Given the description of an element on the screen output the (x, y) to click on. 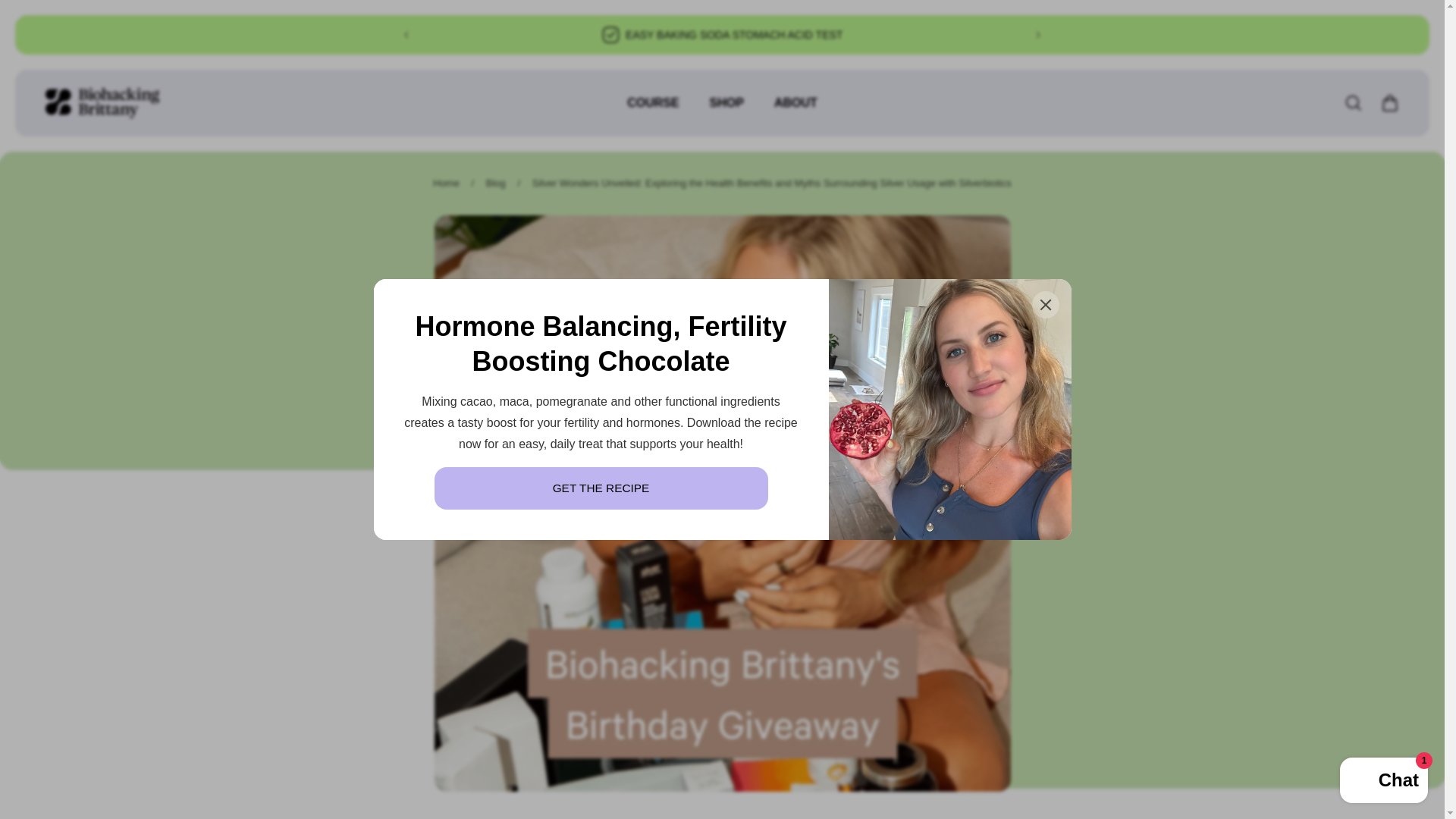
COURSE (652, 110)
Shopify online store chat (1383, 781)
SHOP (726, 110)
ABOUT (795, 110)
GET THE RECIPE (600, 487)
Home (446, 183)
Blog (495, 183)
